Given the description of an element on the screen output the (x, y) to click on. 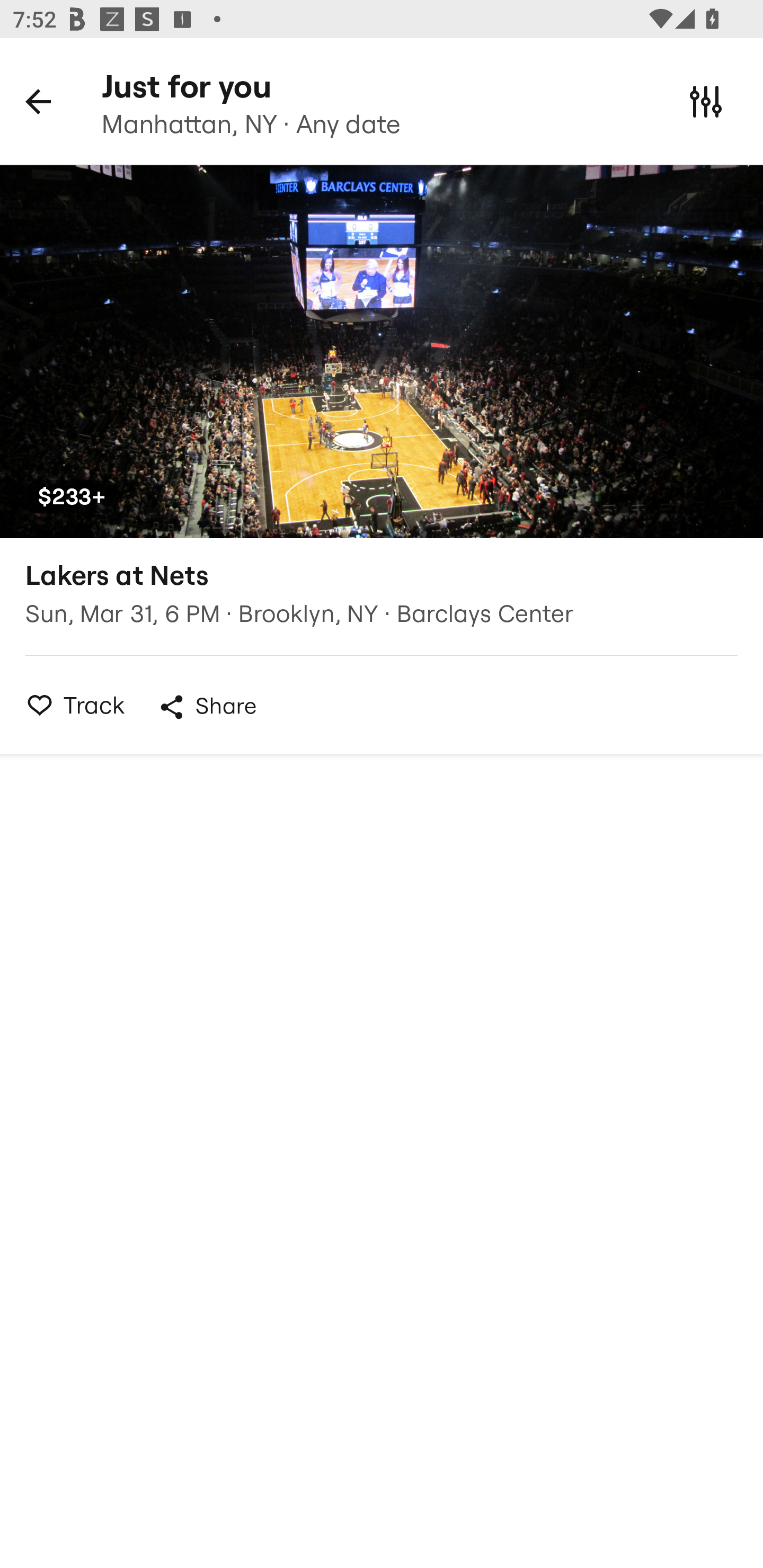
Back (38, 100)
Filters (705, 100)
Track (70, 704)
Share (207, 706)
